Given the description of an element on the screen output the (x, y) to click on. 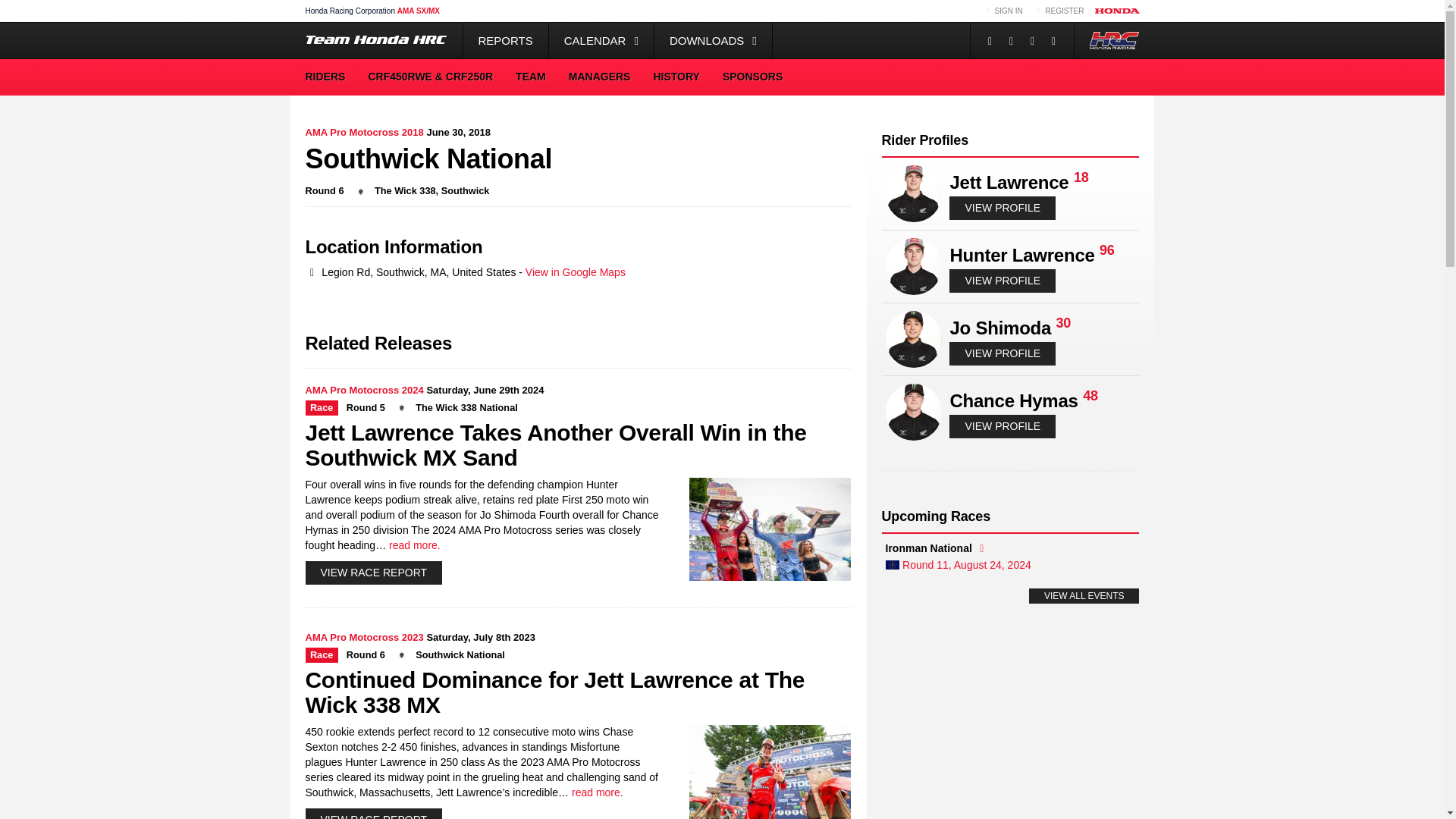
DOWNLOADS (712, 40)
Honda Racing Corporation (1114, 40)
REGISTER (1058, 10)
Honda Racing Corporation (350, 10)
RIDERS (325, 76)
REPORTS (505, 40)
CALENDAR (600, 40)
HONDA (1117, 10)
SIGN IN (1002, 10)
Riders (325, 76)
